Given the description of an element on the screen output the (x, y) to click on. 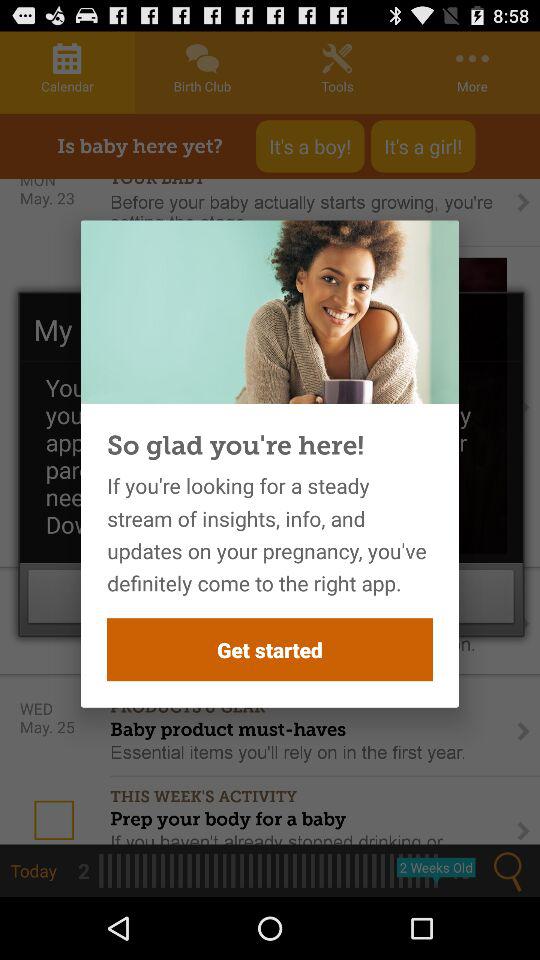
press icon below the if you re item (269, 649)
